Given the description of an element on the screen output the (x, y) to click on. 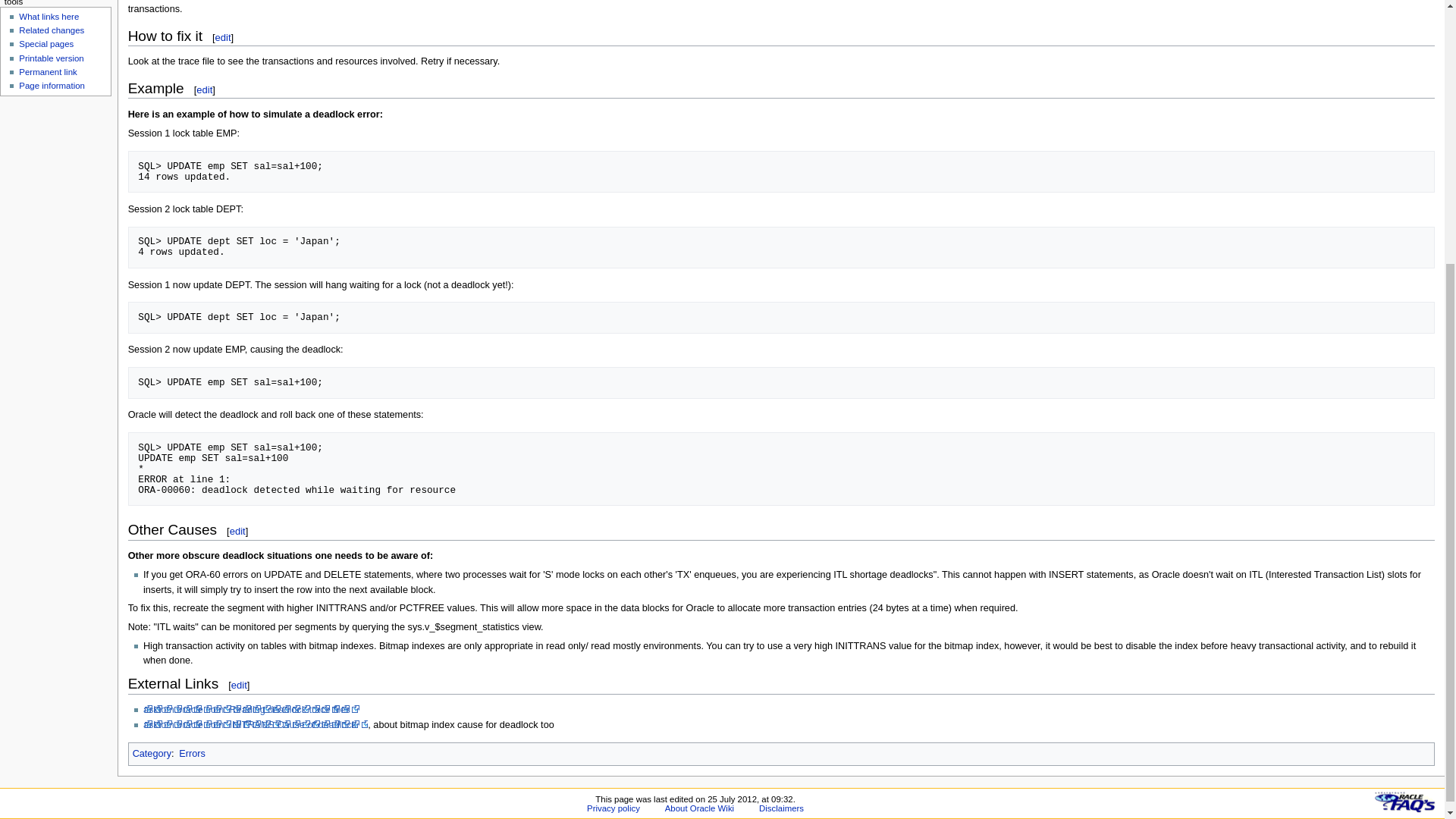
asktom.oracle.com: Reading deadlock trace files (251, 709)
Errors (192, 753)
edit (238, 531)
edit (223, 36)
Edit section: External Links (239, 685)
asktom.oracle.com: INITRANS Cause of deadlock (255, 724)
Category (151, 753)
edit (239, 685)
Edit section: How to fix it (223, 36)
edit (204, 89)
Edit section: Example (204, 89)
Special:Categories (151, 753)
Category:Errors (192, 753)
Edit section: Other Causes (238, 531)
